Given the description of an element on the screen output the (x, y) to click on. 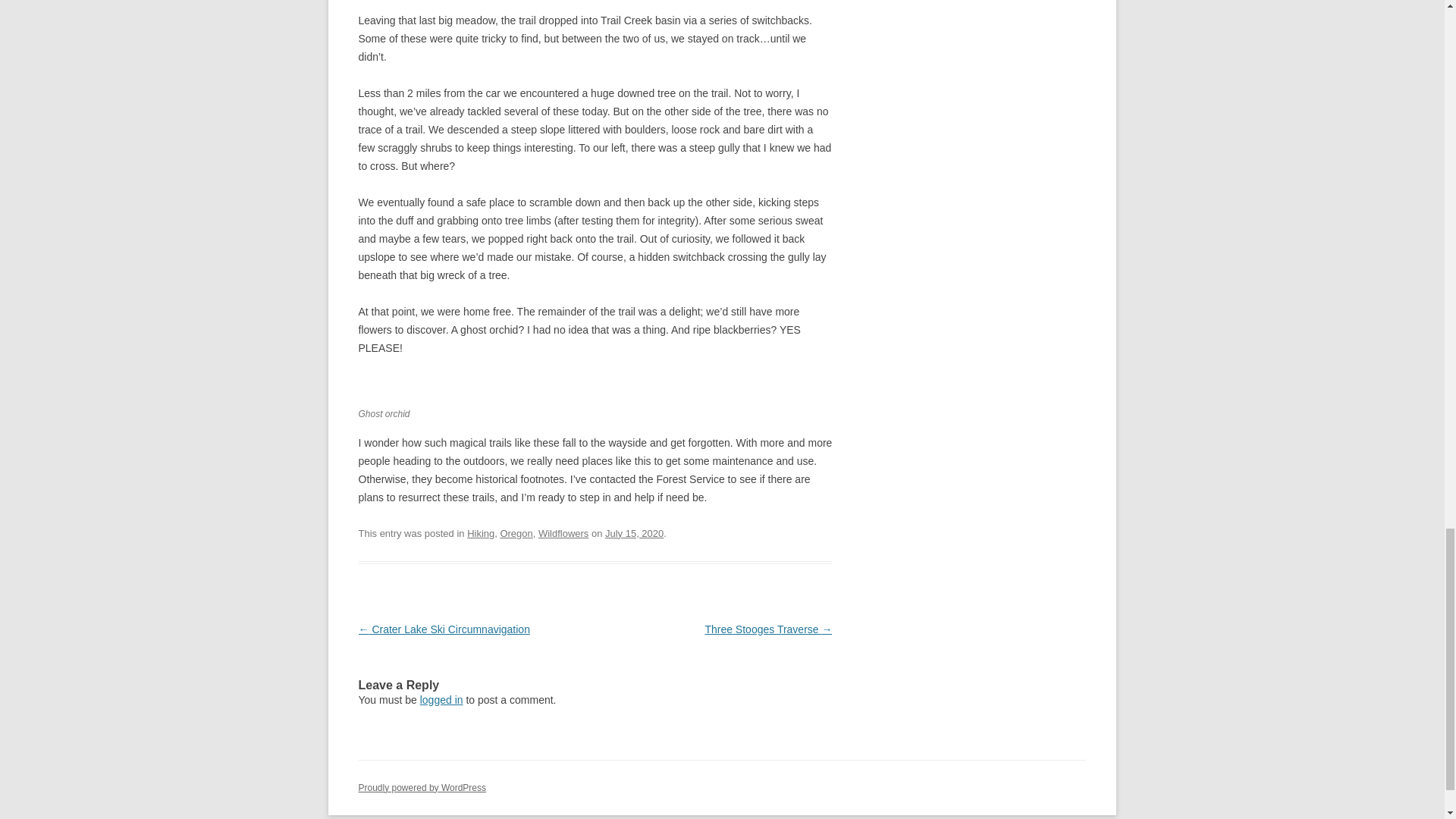
8:03 am (634, 532)
Wildflowers (563, 532)
logged in (441, 699)
Oregon (515, 532)
July 15, 2020 (634, 532)
Hiking (481, 532)
Semantic Personal Publishing Platform (422, 787)
